Given the description of an element on the screen output the (x, y) to click on. 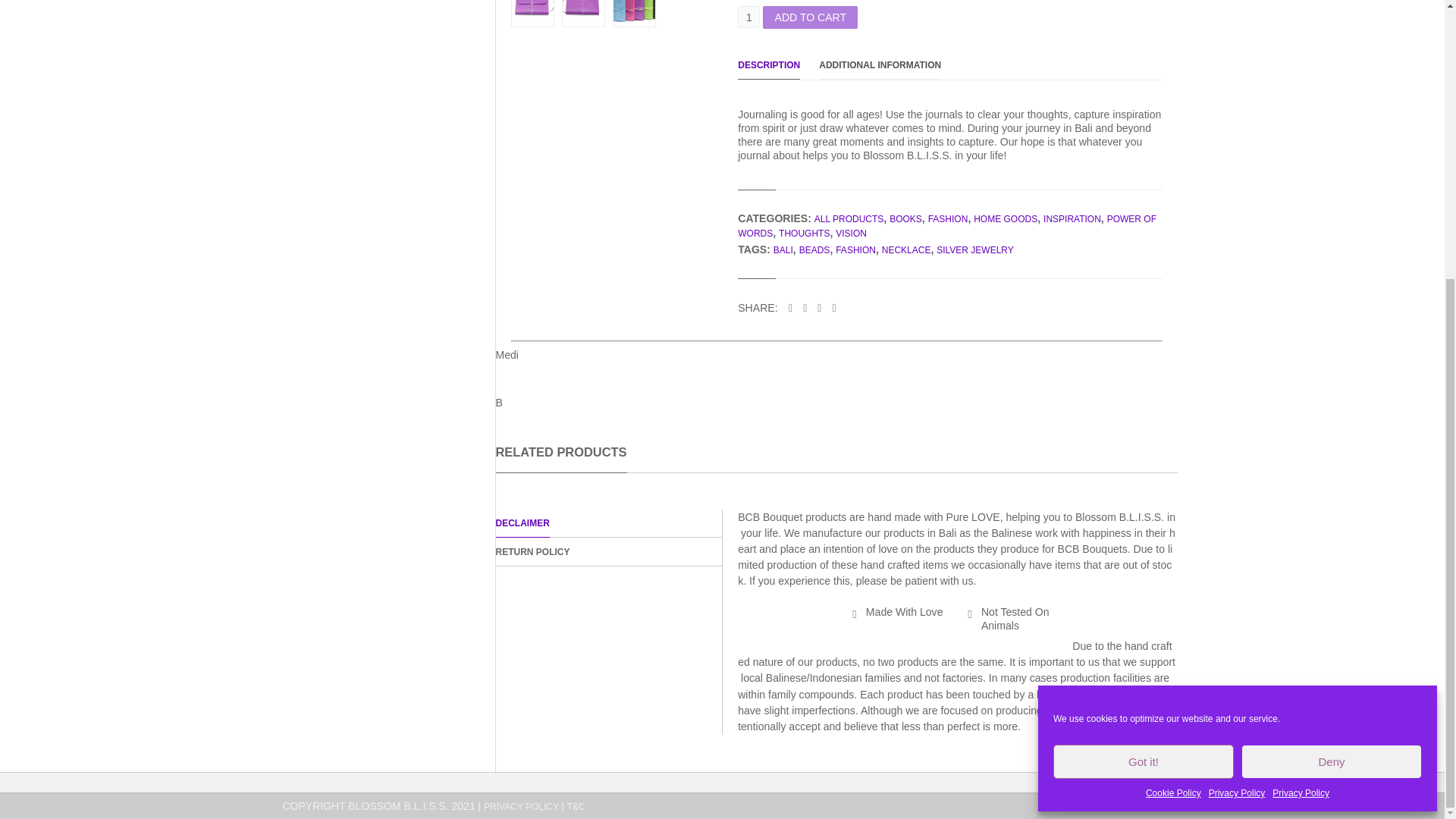
Cookie Policy (1173, 377)
1 (749, 16)
Got it! (1142, 346)
Privacy Policy (1300, 377)
Deny (1331, 346)
Privacy Policy (1236, 377)
